Given the description of an element on the screen output the (x, y) to click on. 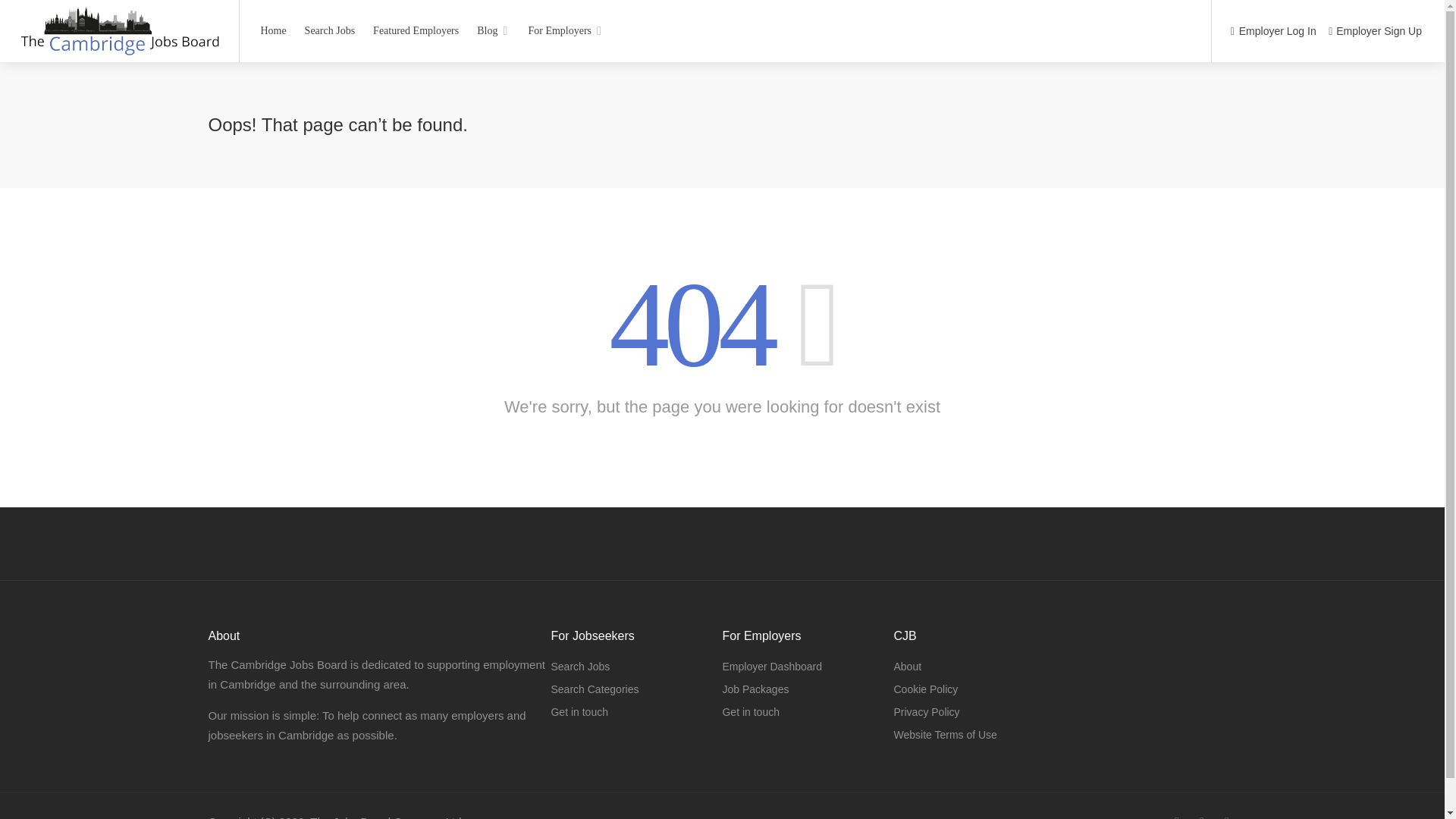
Get in touch (579, 711)
Employer Sign Up (1374, 31)
twitter (1226, 815)
About (907, 666)
Employer Dashboard (772, 666)
Search Jobs (580, 666)
linkedin (1201, 815)
For Employers (565, 30)
facebook (1176, 815)
Home (272, 30)
Job Packages (755, 689)
The Cambridge Jobs Board (118, 47)
Cookie Policy (925, 689)
Search Categories (594, 689)
Search Jobs (330, 30)
